Given the description of an element on the screen output the (x, y) to click on. 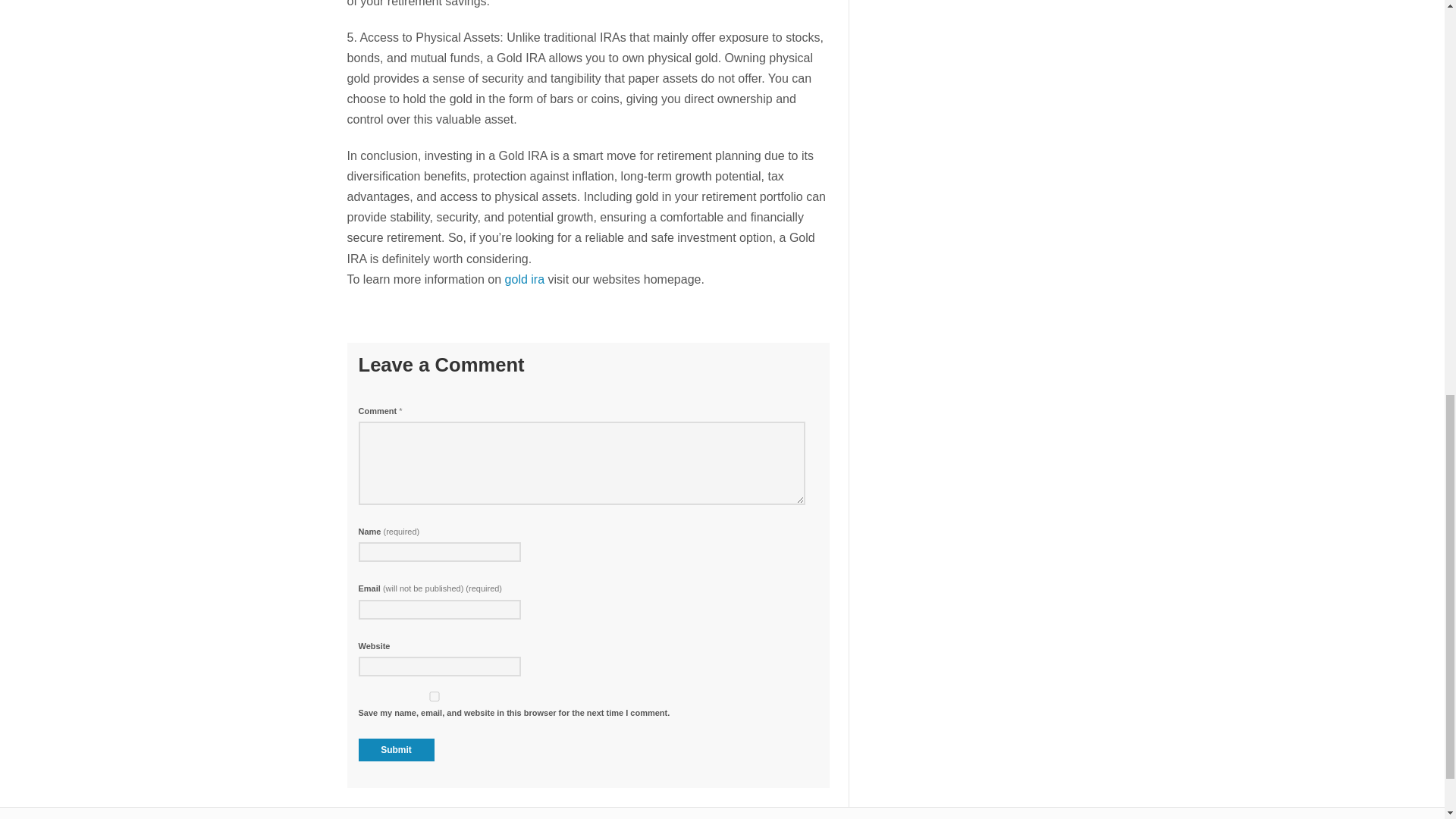
yes (433, 696)
Submit (395, 749)
gold ira (524, 278)
Submit (395, 749)
